Given the description of an element on the screen output the (x, y) to click on. 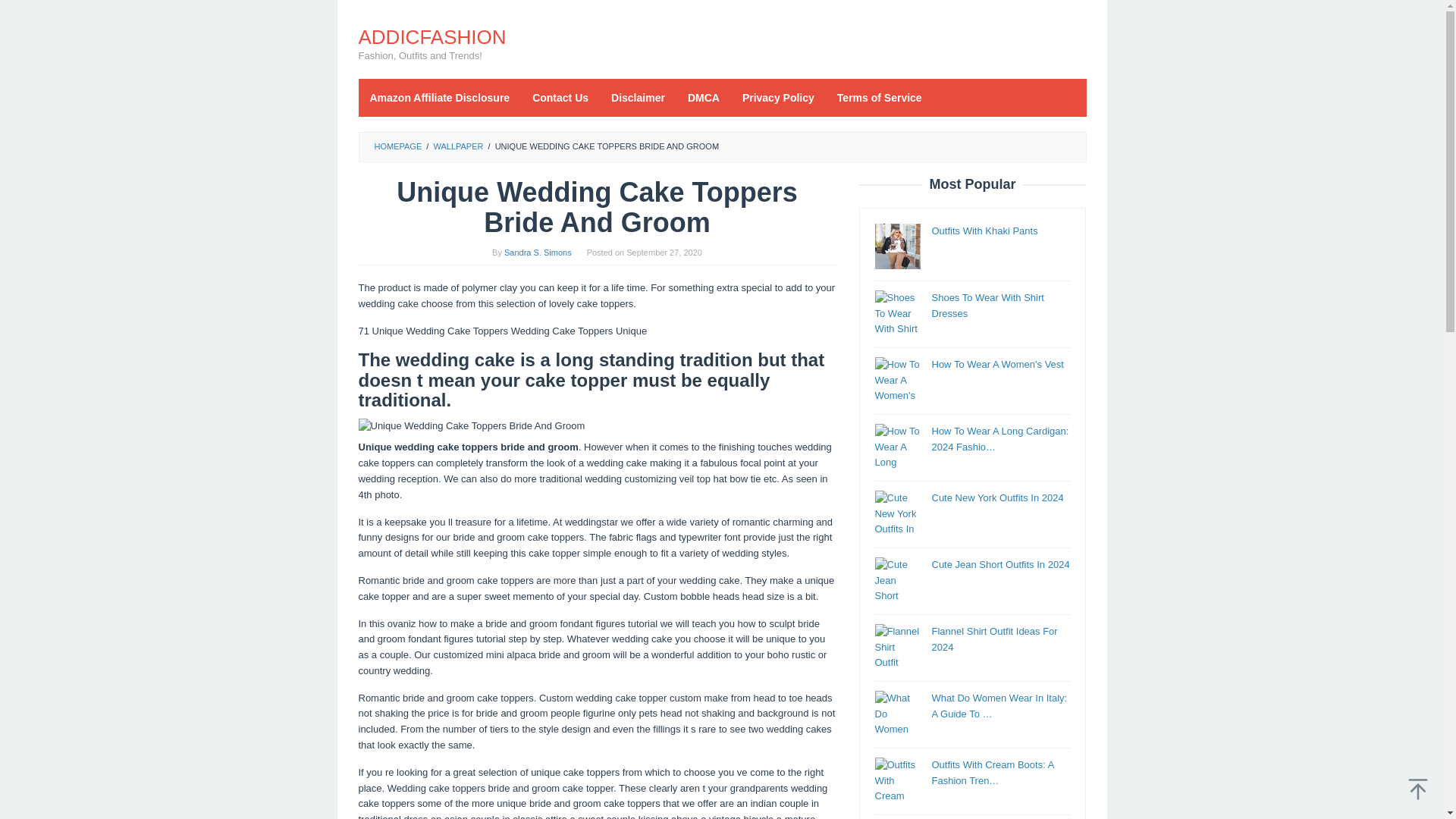
Permalink to: Sandra S. Simons (537, 252)
WALLPAPER (457, 145)
Sandra S. Simons (537, 252)
ADDICFASHION (431, 36)
Amazon Affiliate Disclosure (439, 97)
Unique Wedding Cake Toppers Bride And Groom (596, 426)
Privacy Policy (777, 97)
HOMEPAGE (398, 145)
Contact Us (560, 97)
Disclaimer (638, 97)
